Given the description of an element on the screen output the (x, y) to click on. 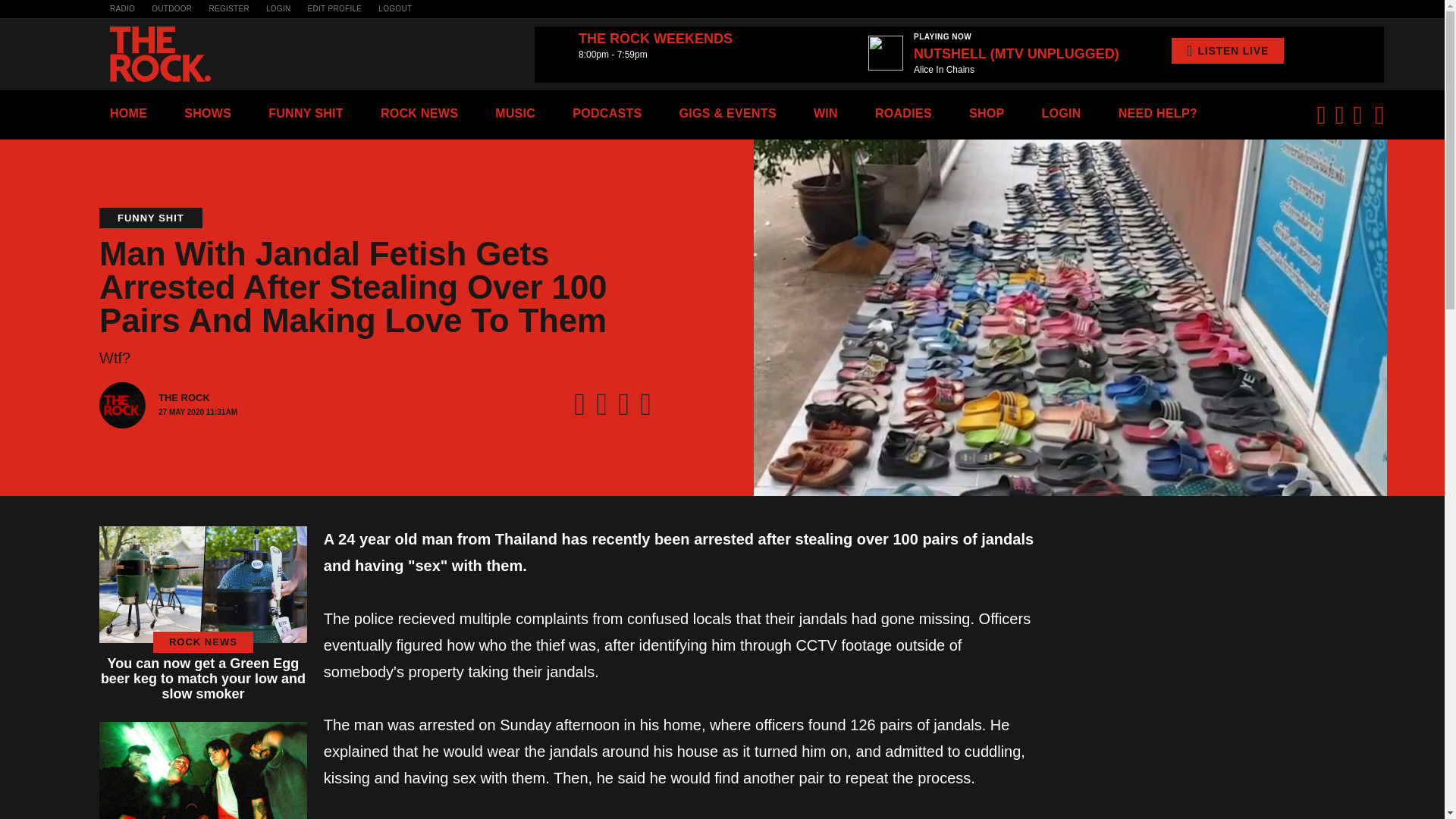
MUSIC (515, 113)
LOGIN (278, 8)
LOGIN (1060, 113)
WIN (825, 113)
NEED HELP? (1157, 113)
LISTEN LIVE (1228, 50)
EDIT PROFILE (334, 8)
ROCK NEWS (419, 113)
HOME (128, 113)
OUTDOOR (171, 8)
